Given the description of an element on the screen output the (x, y) to click on. 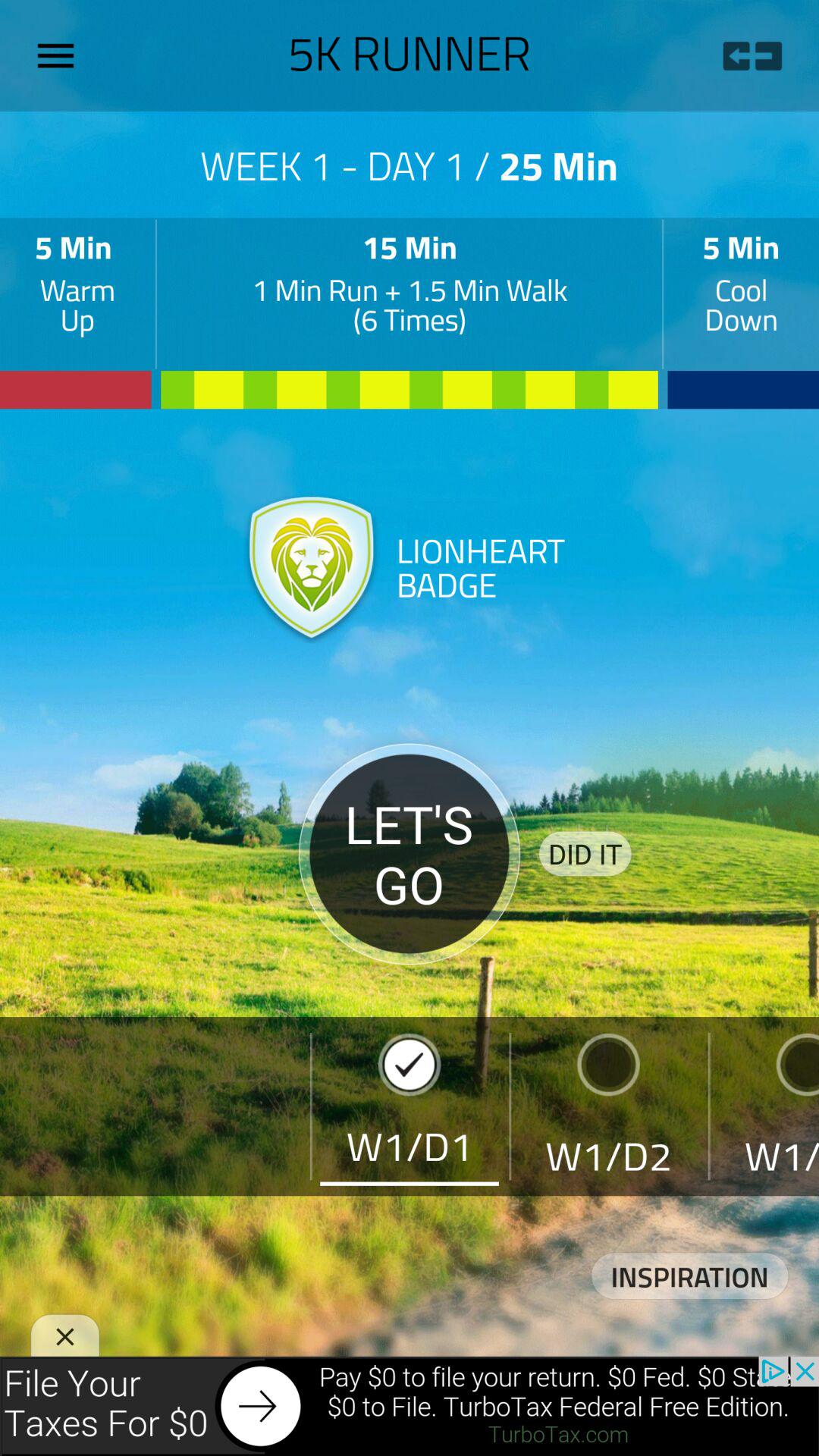
open menu (61, 55)
